Given the description of an element on the screen output the (x, y) to click on. 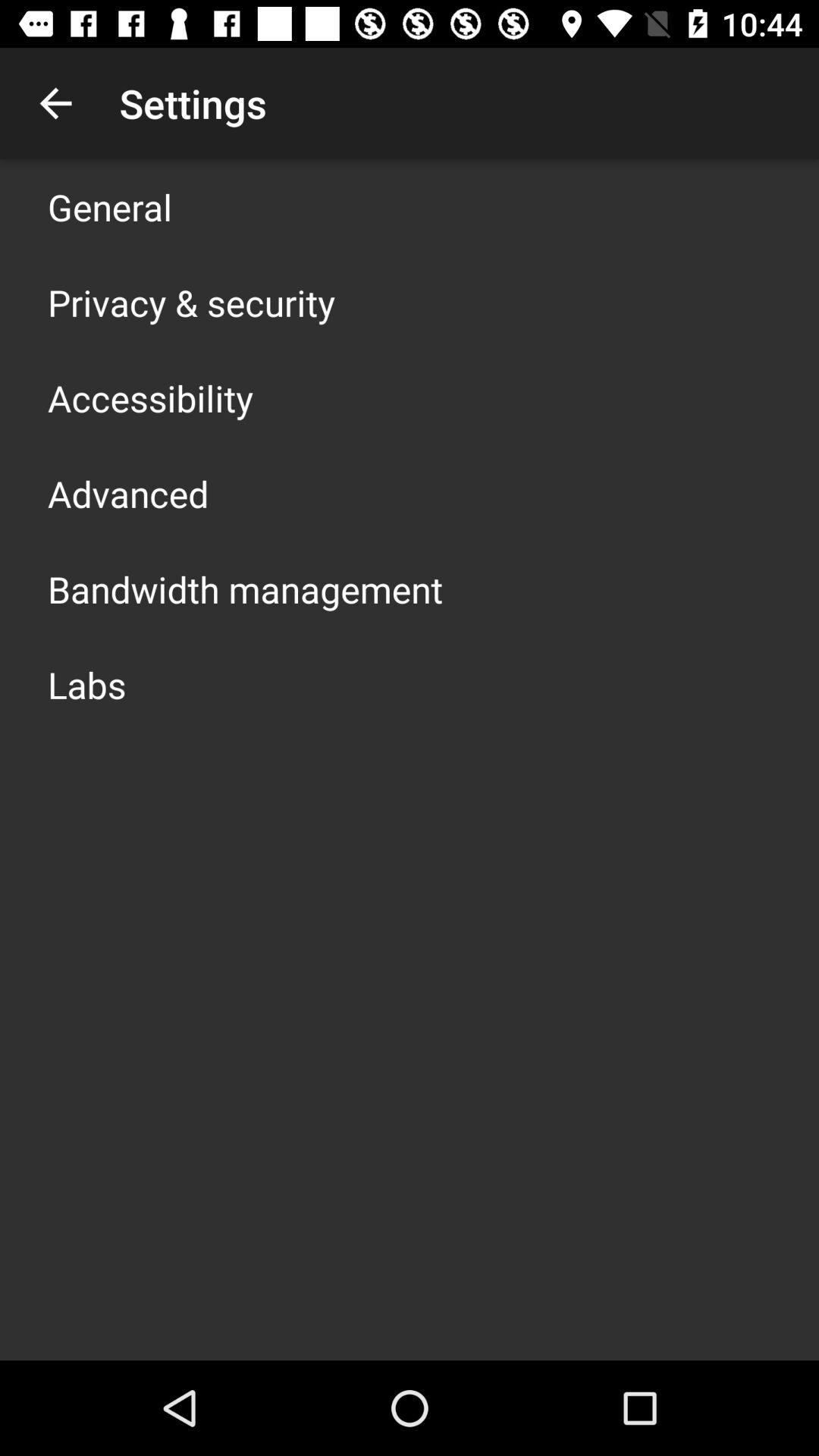
open item next to the settings item (55, 103)
